Given the description of an element on the screen output the (x, y) to click on. 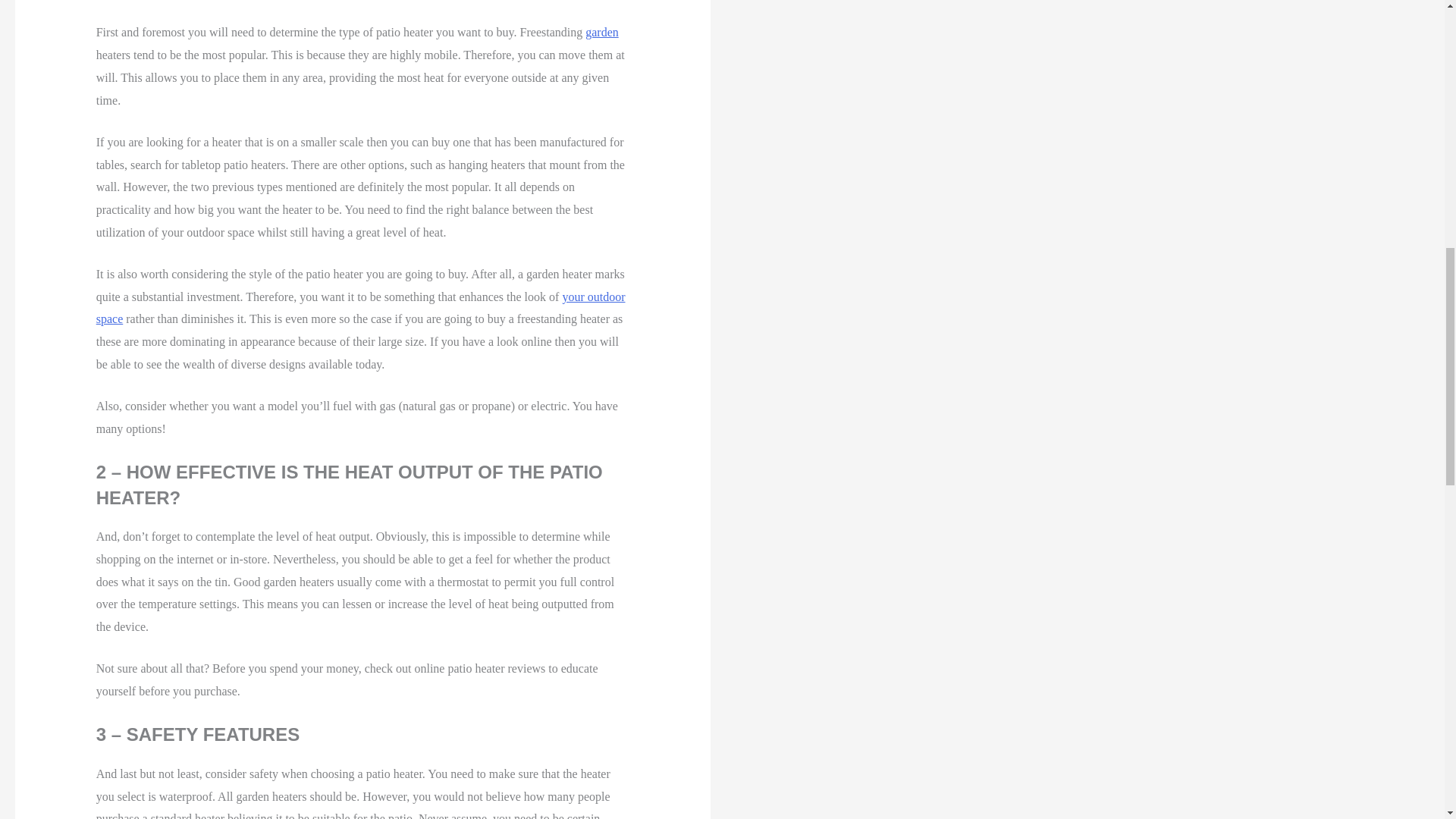
your outdoor space (361, 307)
garden (601, 31)
